Given the description of an element on the screen output the (x, y) to click on. 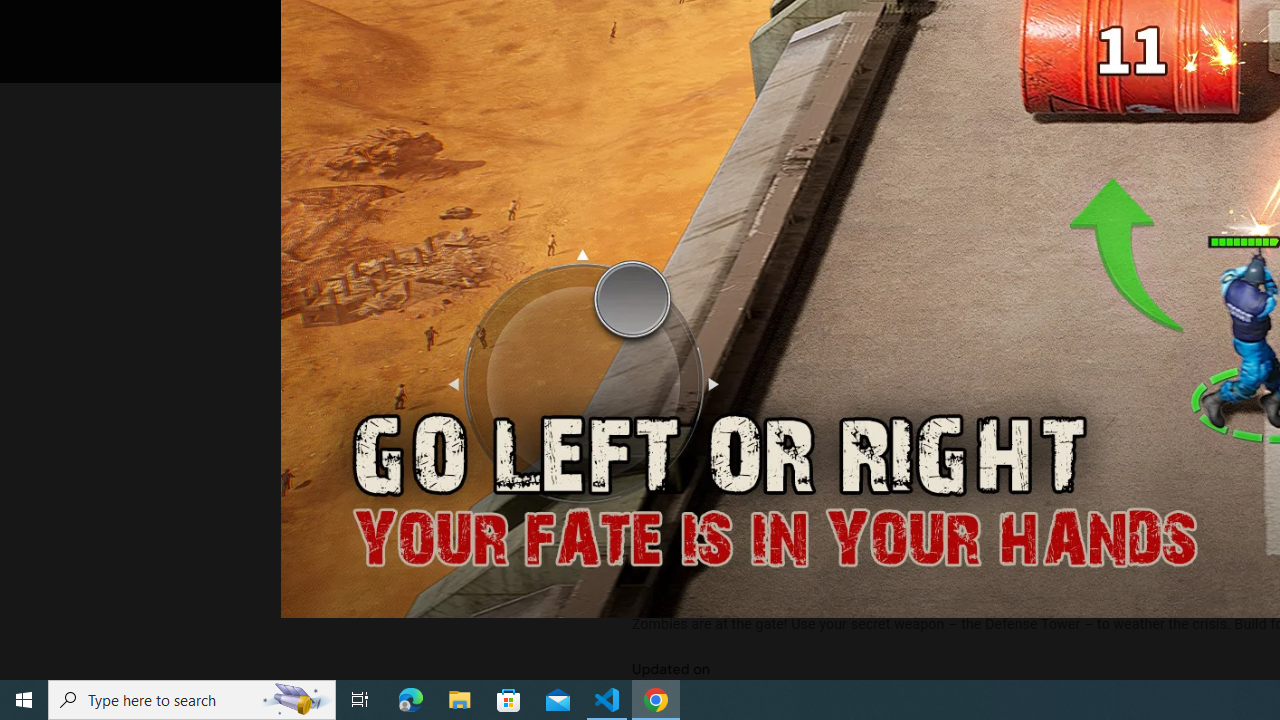
Share (890, 24)
See more information on About this game (830, 477)
Add to wishlist (1014, 24)
Screenshot image (895, 271)
Install (732, 24)
